Given the description of an element on the screen output the (x, y) to click on. 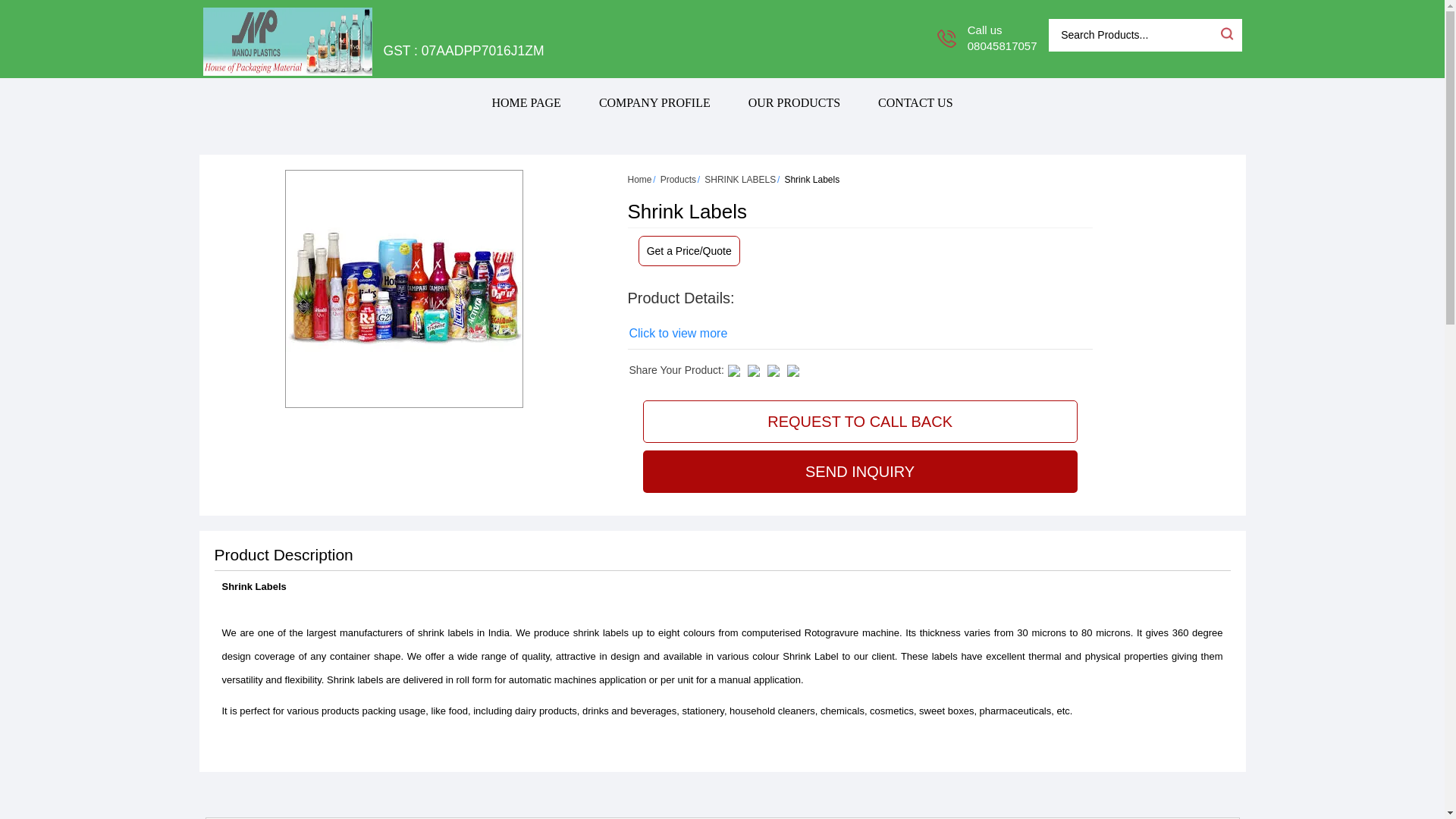
Search Products... (1133, 34)
CONTACT US (915, 102)
Home (639, 179)
OUR PRODUCTS (794, 102)
SHRINK LABELS (740, 179)
Products (678, 179)
COMPANY PROFILE (654, 102)
Search Products... (1133, 34)
Search (1225, 33)
HOME PAGE (525, 102)
submit (1225, 33)
Click to view more (678, 333)
